Given the description of an element on the screen output the (x, y) to click on. 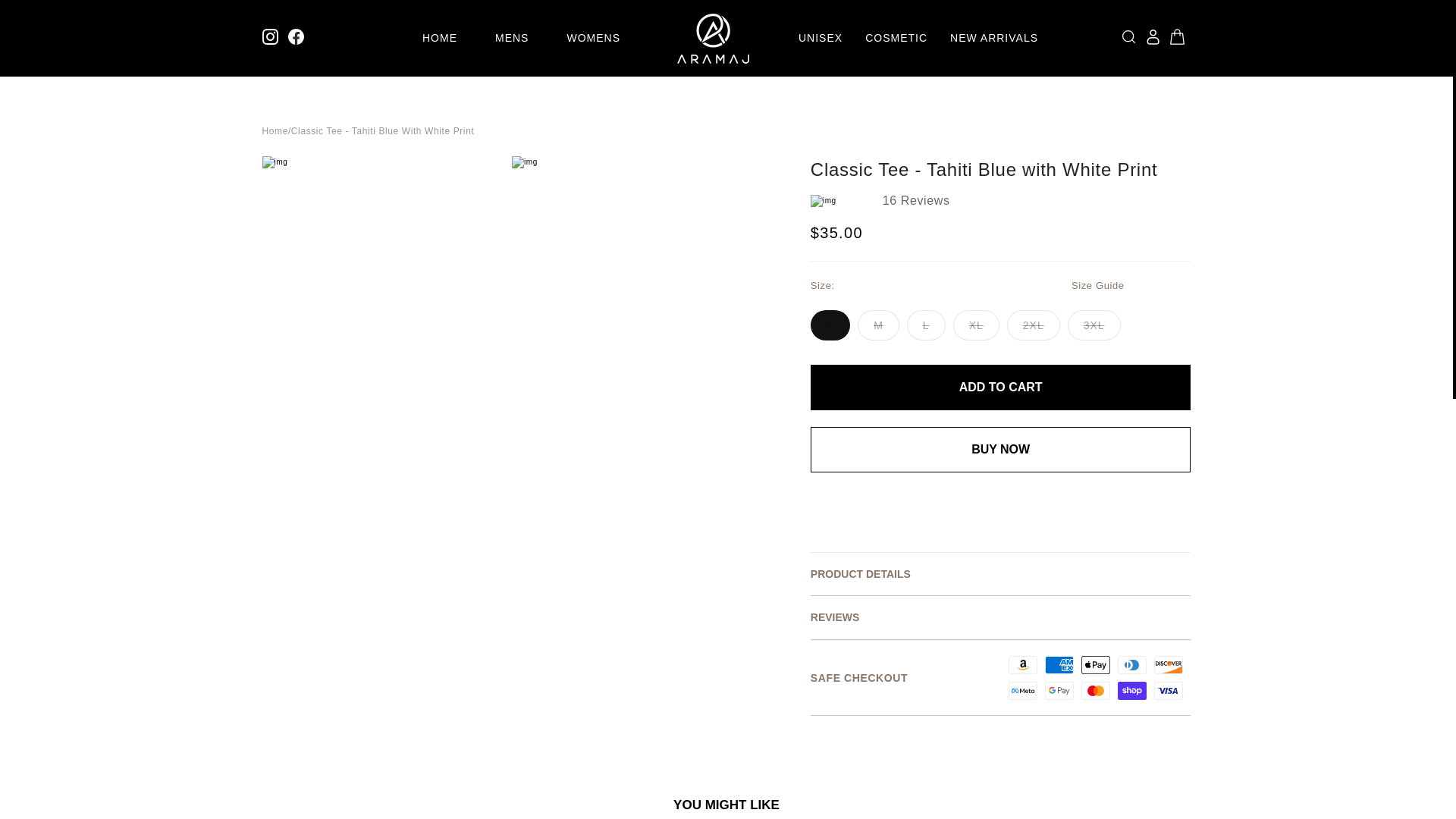
HOME (439, 37)
Skip to content (45, 17)
COSMETIC (895, 37)
Cart (1177, 36)
Discover (1168, 665)
Amazon (1022, 665)
